Given the description of an element on the screen output the (x, y) to click on. 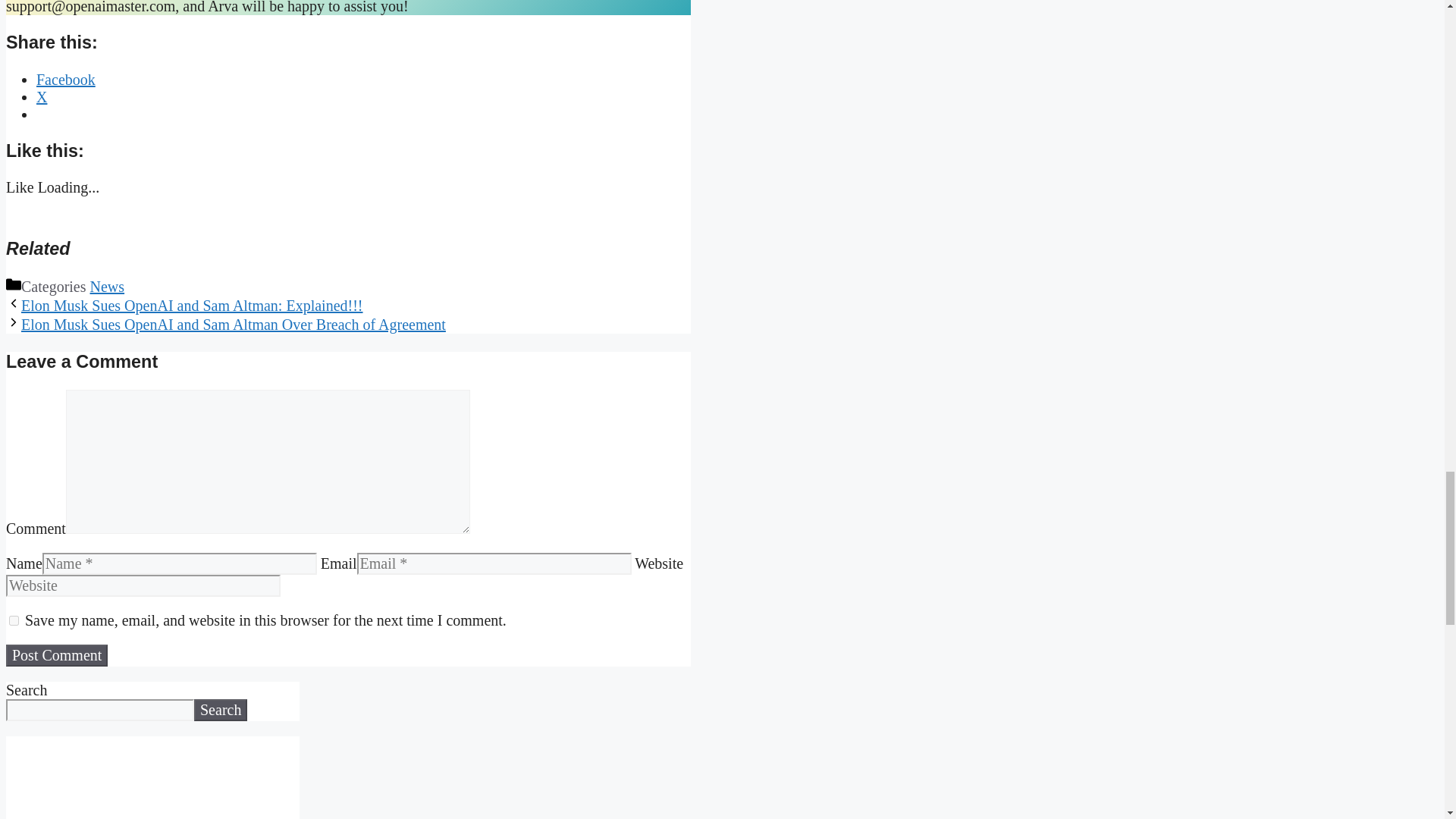
News (107, 286)
Facebook (66, 79)
Elon Musk Sues OpenAI and Sam Altman: Explained!!! (191, 305)
yes (13, 620)
Search (220, 710)
Post Comment (56, 655)
Post Comment (56, 655)
Click to share on Facebook (66, 79)
